Given the description of an element on the screen output the (x, y) to click on. 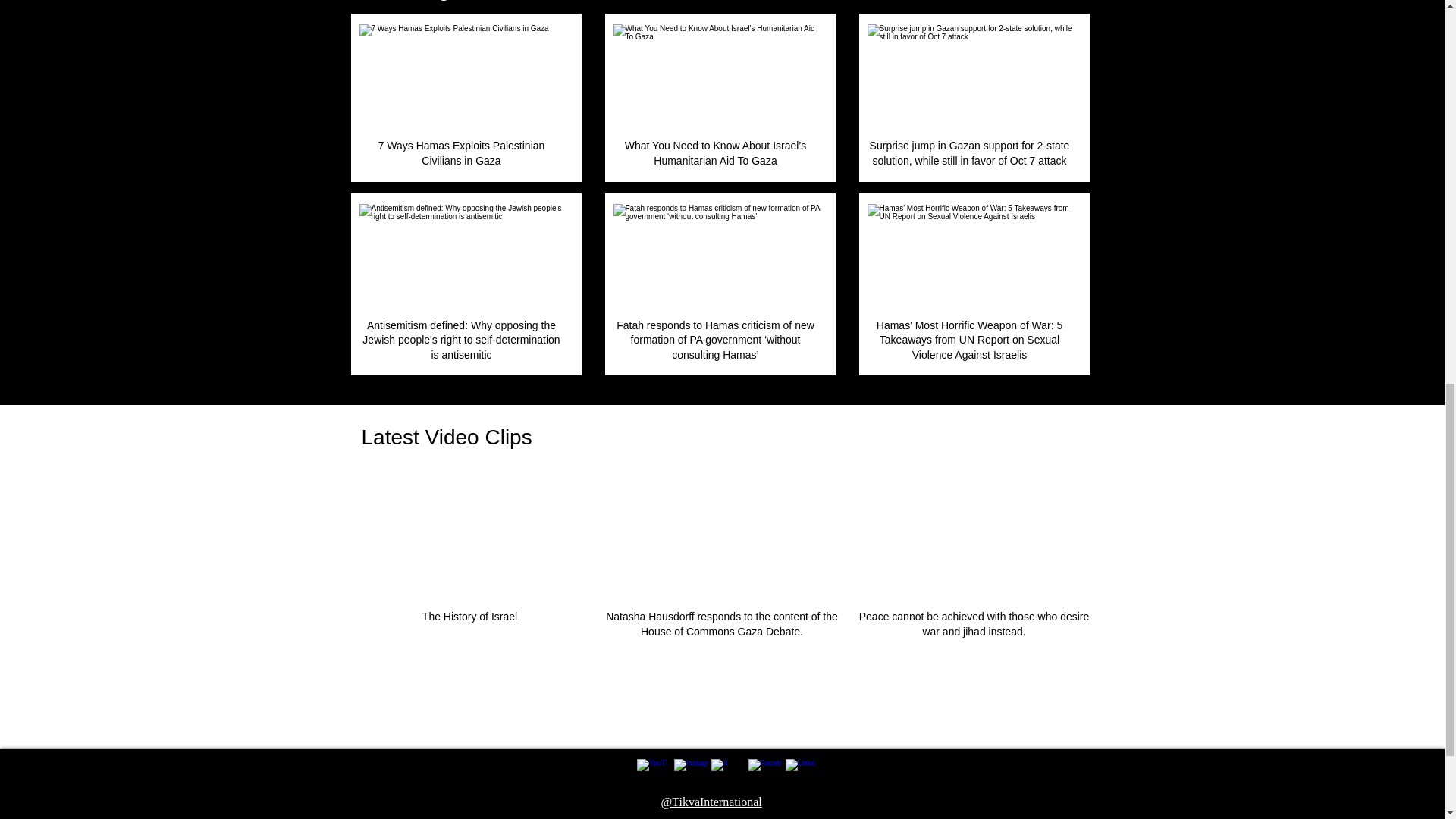
7 Ways Hamas Exploits Palestinian Civilians in Gaza (463, 77)
